Given the description of an element on the screen output the (x, y) to click on. 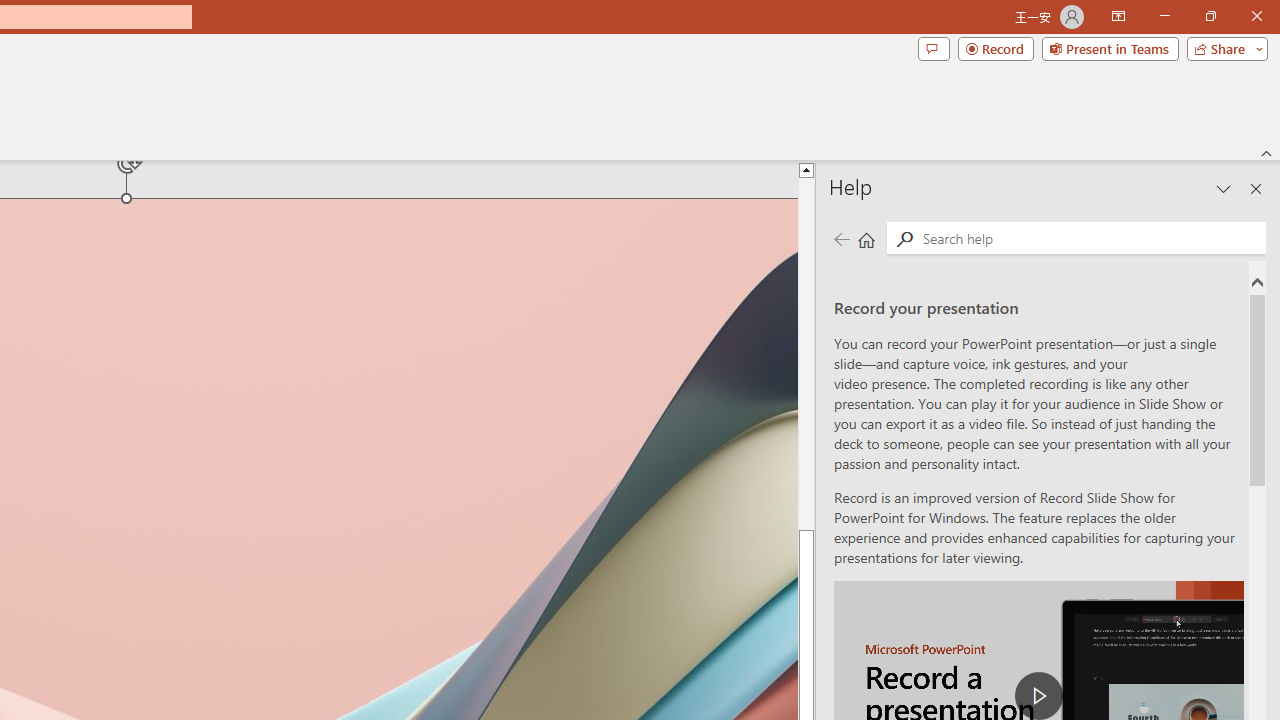
Previous page (841, 238)
Home (866, 238)
Task Pane Options (1224, 188)
Search (904, 238)
Ribbon Display Options (1118, 16)
Collapse the Ribbon (1267, 152)
Minimize (1164, 16)
Comments (933, 48)
Share (1223, 48)
Restore Down (1210, 16)
Close pane (1256, 188)
Search (1089, 237)
Line up (806, 169)
